Given the description of an element on the screen output the (x, y) to click on. 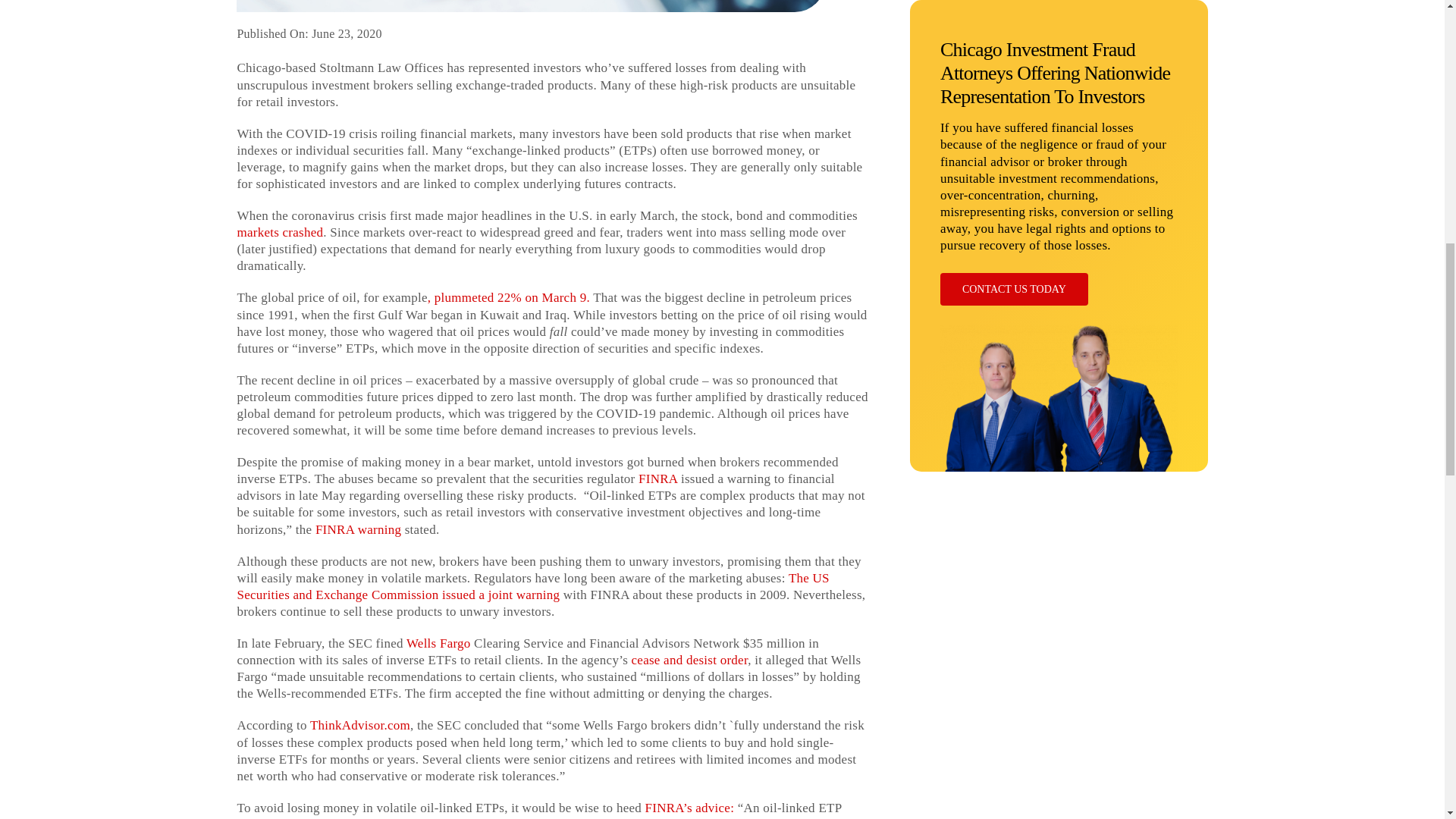
Stoltmann Law Securities Investment Fraud Attorneys (1058, 42)
